Given the description of an element on the screen output the (x, y) to click on. 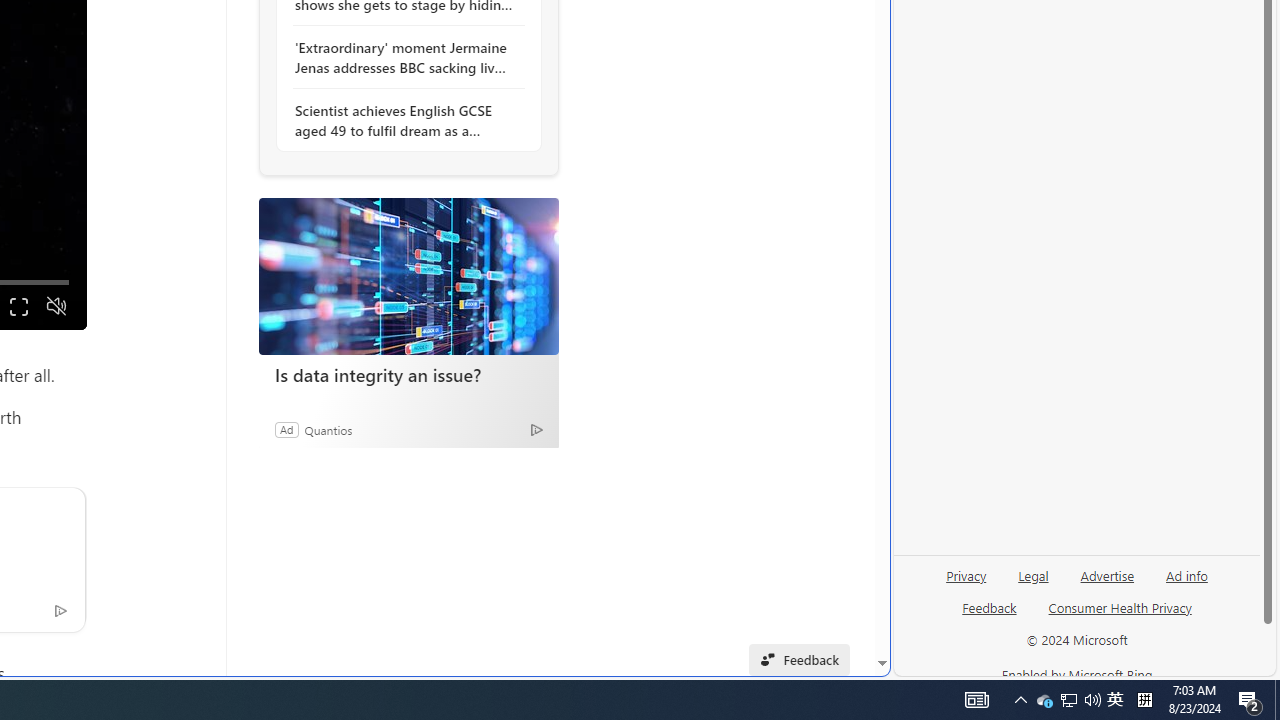
Ad info (1186, 583)
Is data integrity an issue? (408, 276)
Is data integrity an issue? (407, 374)
google_privacy_policy_zh-CN.pdf (687, 482)
Legal (1033, 574)
Consumer Health Privacy (1119, 607)
Legal (1033, 583)
Ad info (1187, 574)
